Given the description of an element on the screen output the (x, y) to click on. 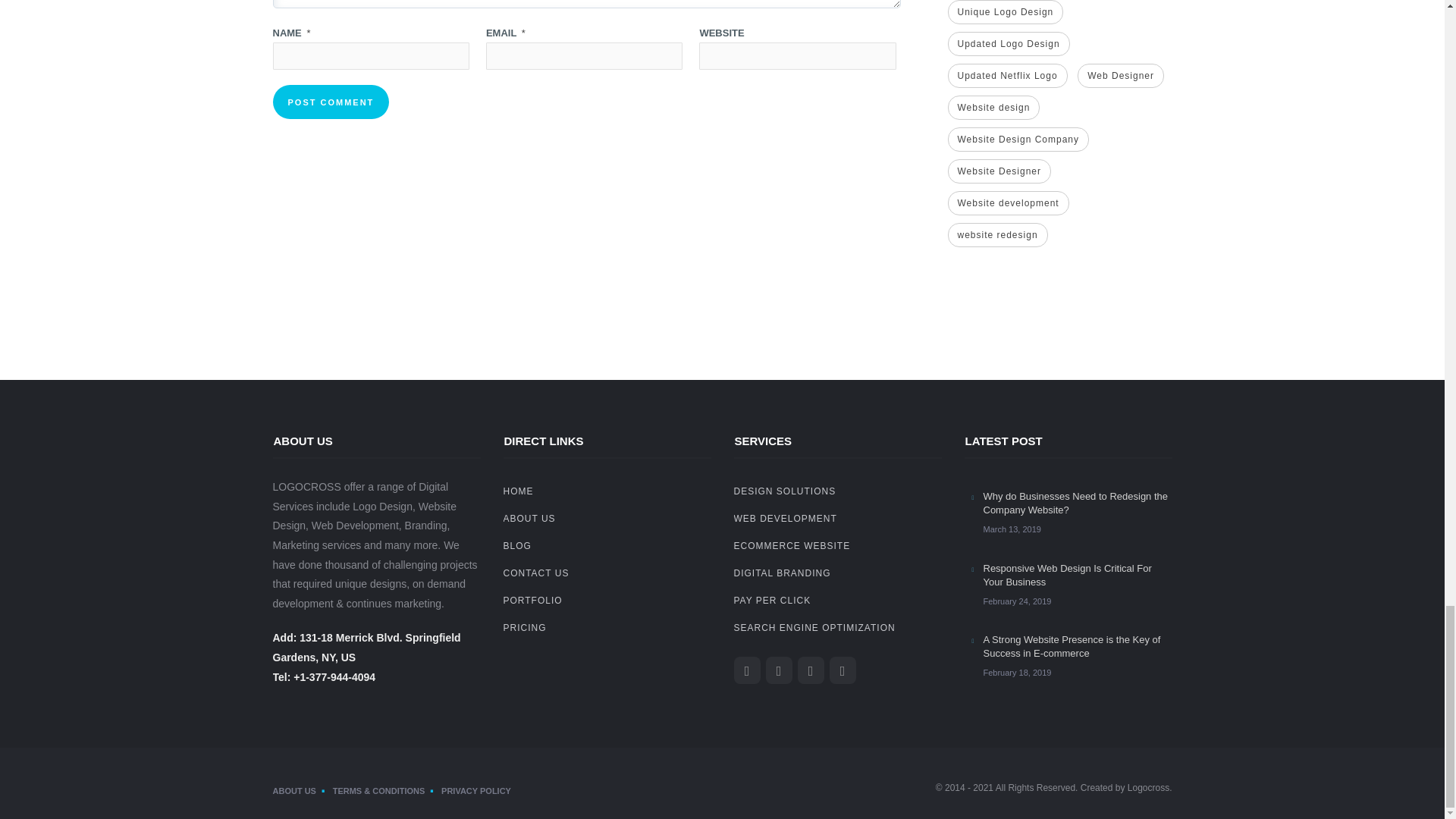
Post Comment (331, 101)
